Given the description of an element on the screen output the (x, y) to click on. 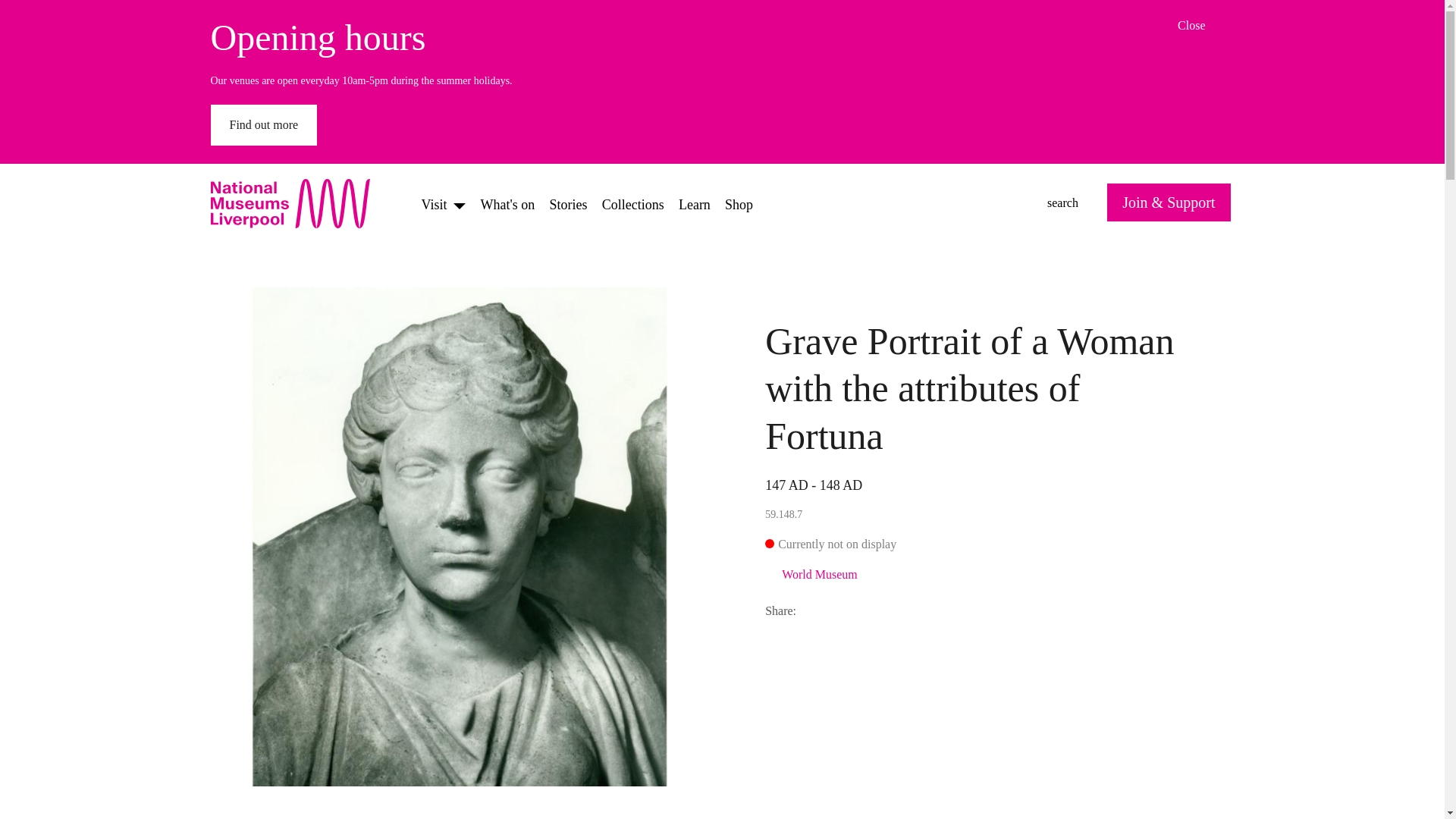
Share via Facebook (1205, 25)
Learn (893, 610)
Stories (694, 203)
Share via Email (569, 203)
National Museums Liverpool (820, 610)
Find out more (298, 203)
Share via Twitter (264, 124)
What's on (857, 610)
World Museum (507, 203)
